Given the description of an element on the screen output the (x, y) to click on. 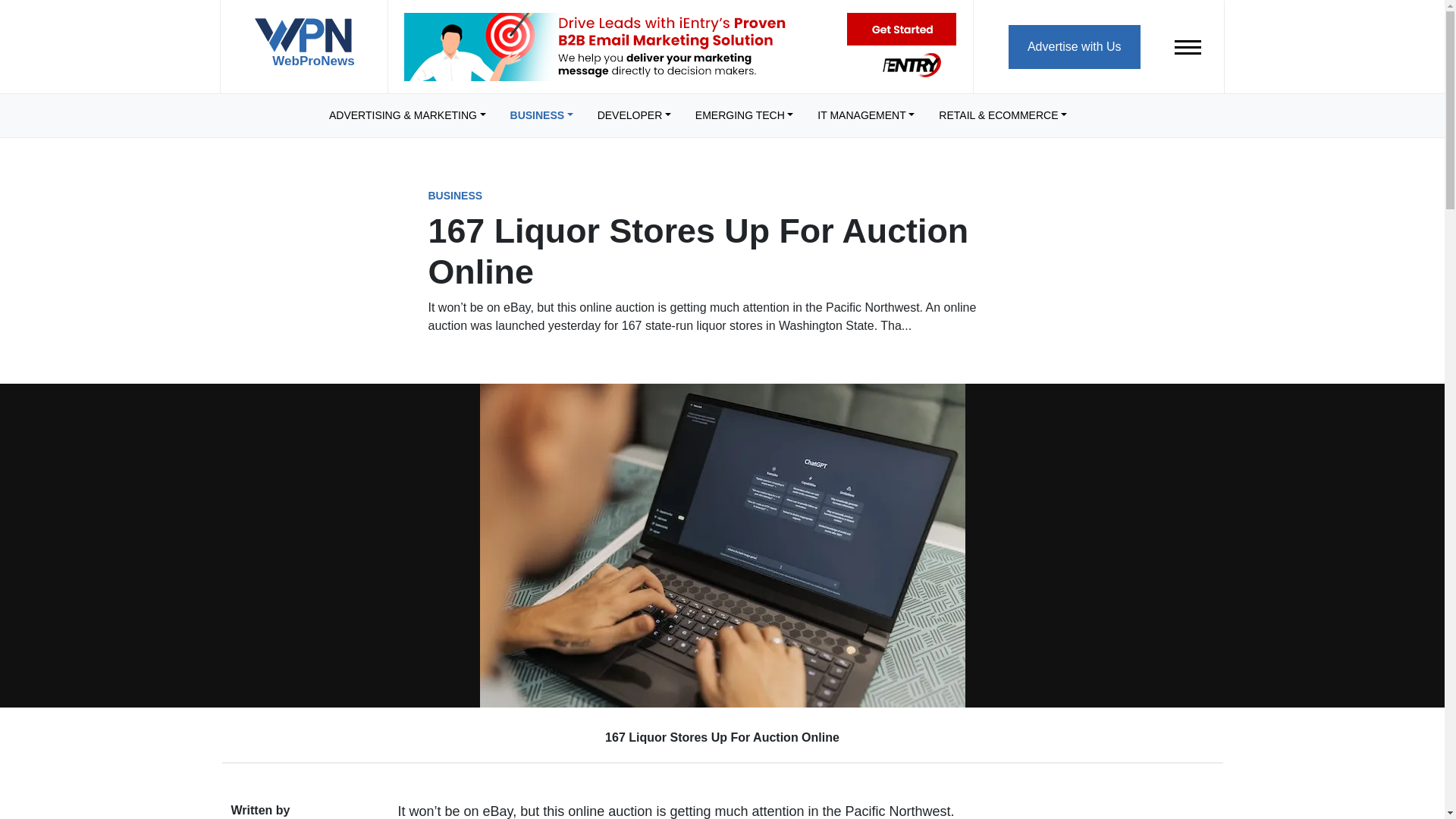
WebProNews (303, 49)
Advertise with Us (1074, 45)
